Given the description of an element on the screen output the (x, y) to click on. 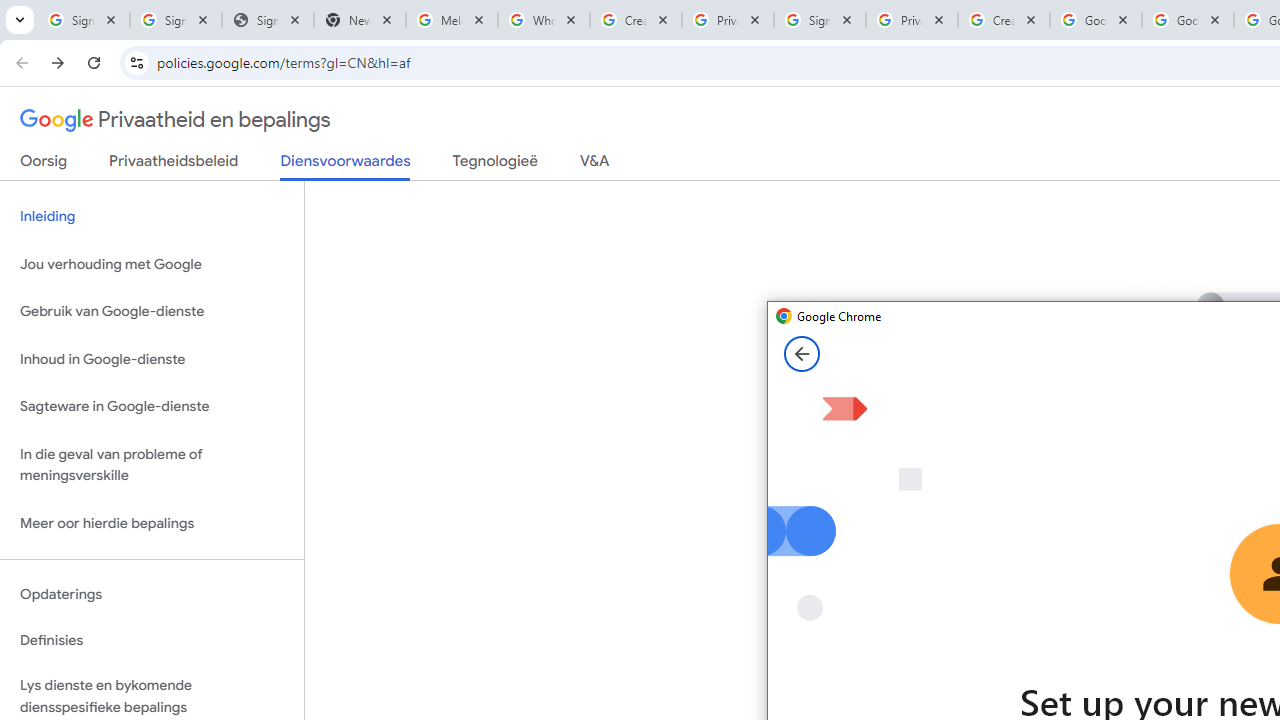
Create your Google Account (636, 20)
Inhoud in Google-dienste (152, 358)
Who is my administrator? - Google Account Help (543, 20)
In die geval van probleme of meningsverskille (152, 464)
Create your Google Account (1003, 20)
Back from Set up your new Chrome profile page (801, 354)
Diensvoorwaardes (345, 166)
Oorsig (43, 165)
Privaatheidsbeleid (173, 165)
